Given the description of an element on the screen output the (x, y) to click on. 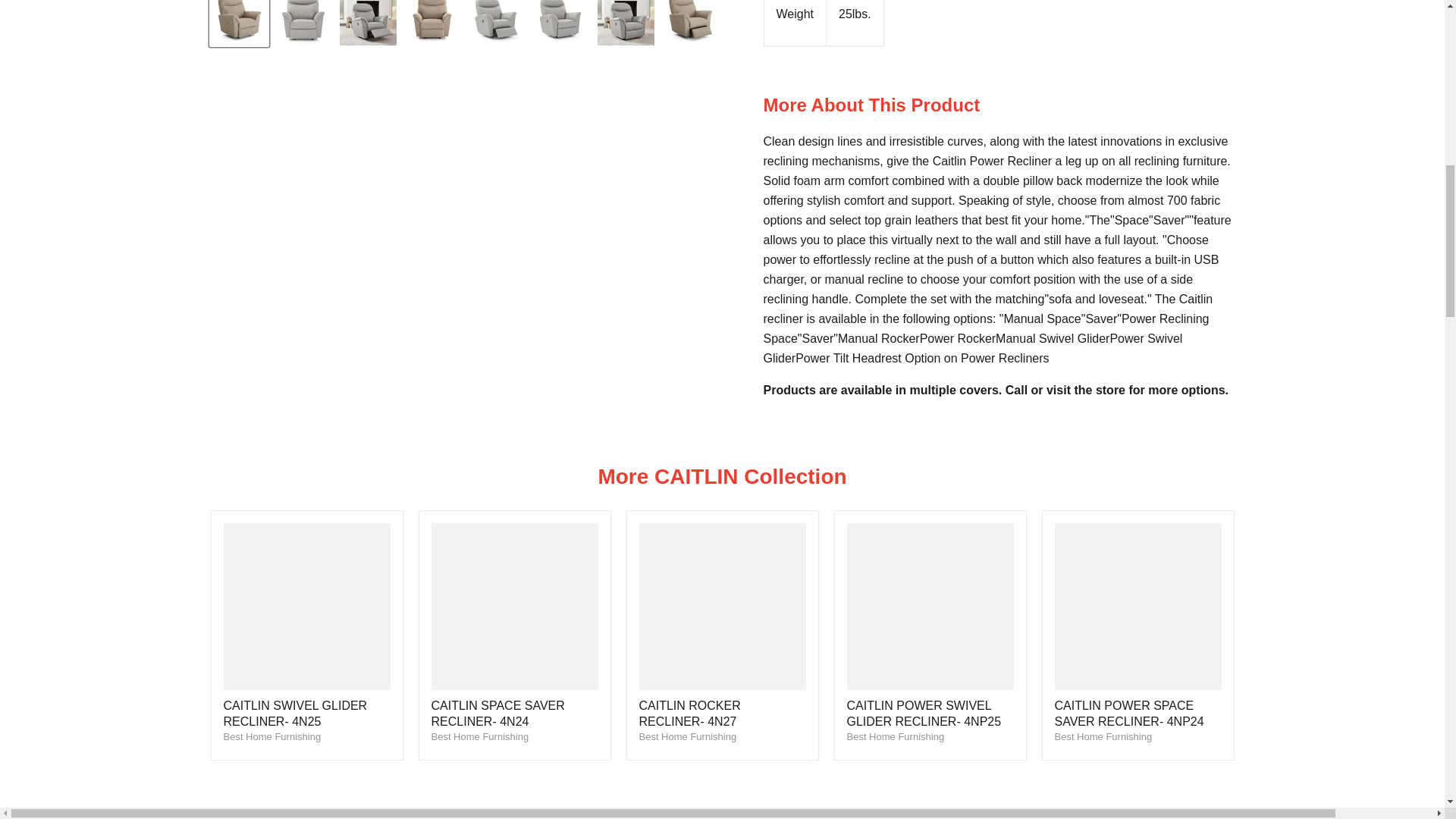
Best Home Furnishing (687, 736)
Best Home Furnishing (271, 736)
Best Home Furnishing (1102, 736)
Best Home Furnishing (479, 736)
Best Home Furnishing (894, 736)
